Given the description of an element on the screen output the (x, y) to click on. 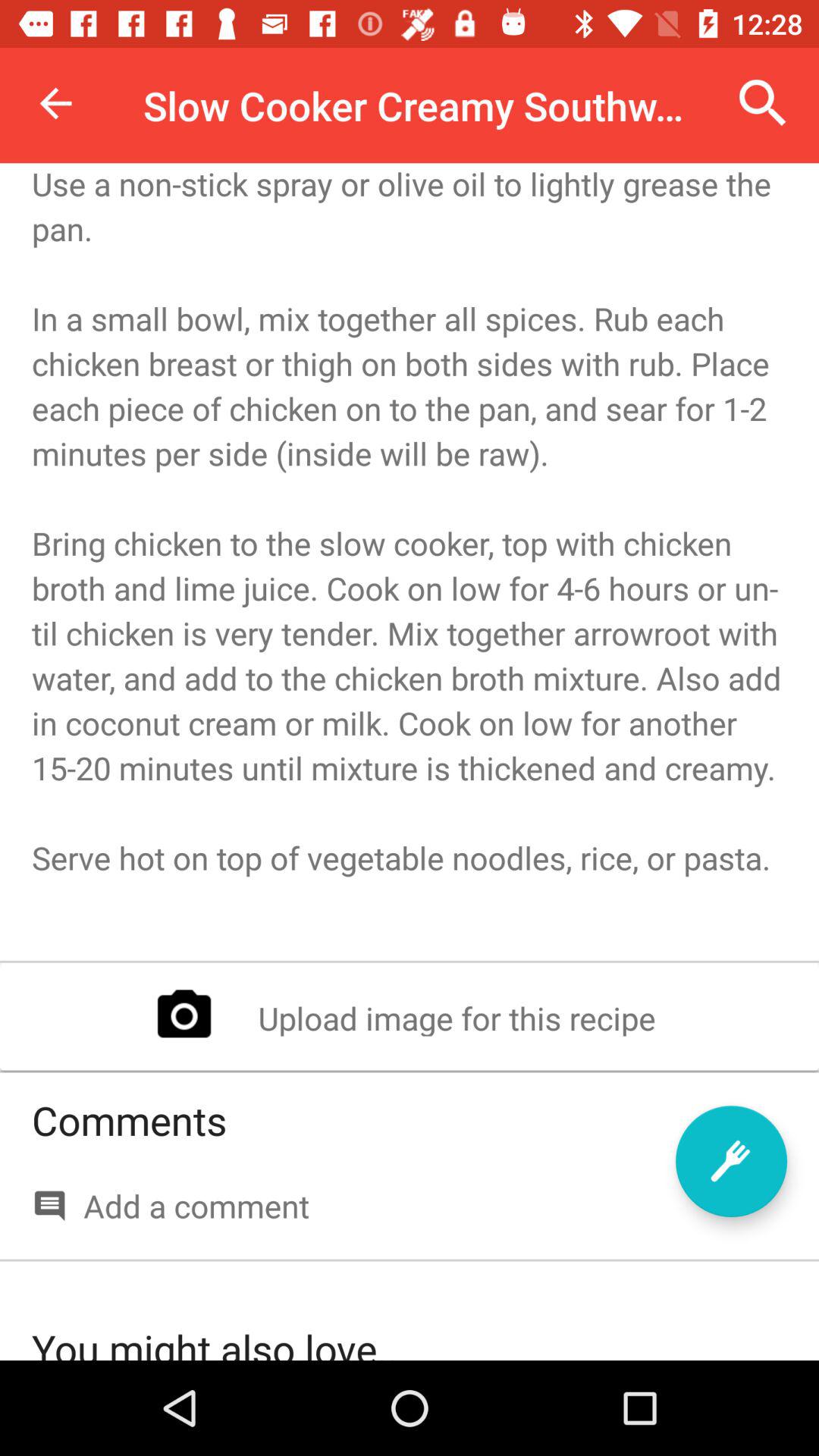
choose the item next to the comments icon (731, 1161)
